Given the description of an element on the screen output the (x, y) to click on. 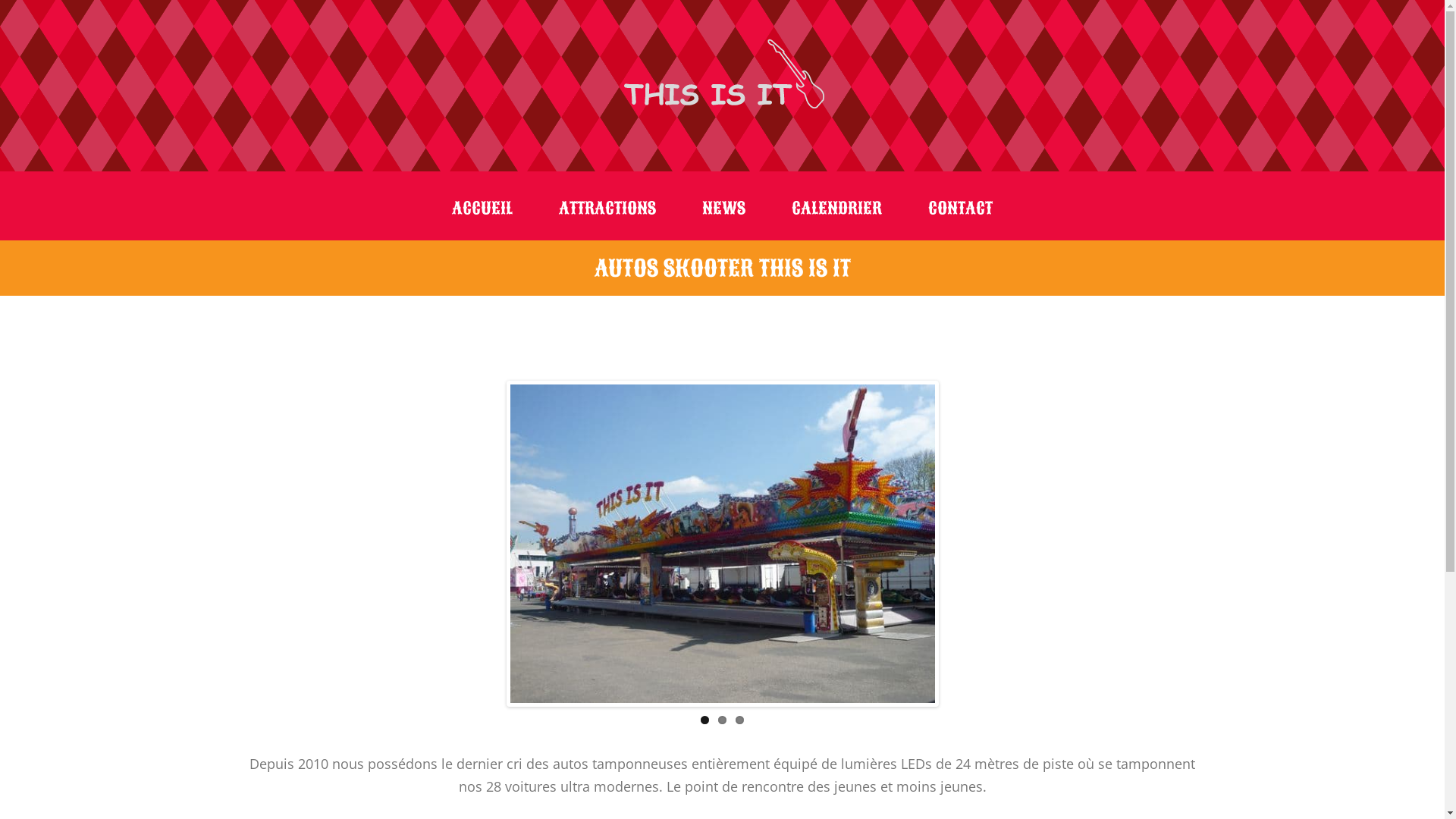
ACCUEIL Element type: text (481, 208)
CONTACT Element type: text (960, 208)
1 Element type: text (704, 719)
NEWS Element type: text (723, 208)
ATTRACTIONS Element type: text (606, 208)
this Element type: hover (722, 543)
2 Element type: text (722, 719)
3 Element type: text (739, 719)
CALENDRIER Element type: text (836, 208)
